Given the description of an element on the screen output the (x, y) to click on. 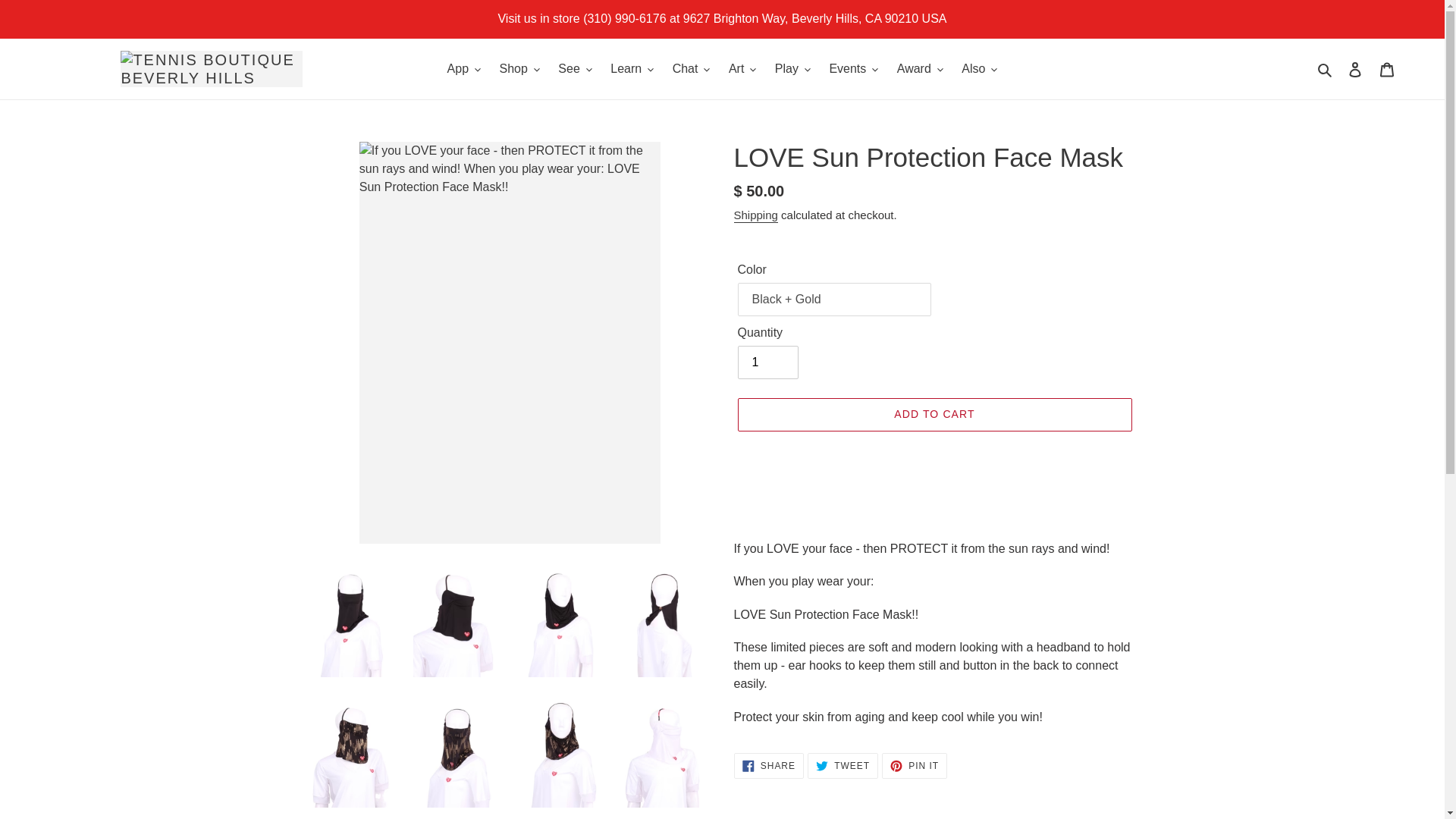
1 (766, 362)
Learn (631, 68)
Chat (691, 68)
Shop (519, 68)
App (463, 68)
See (574, 68)
Art (741, 68)
